Given the description of an element on the screen output the (x, y) to click on. 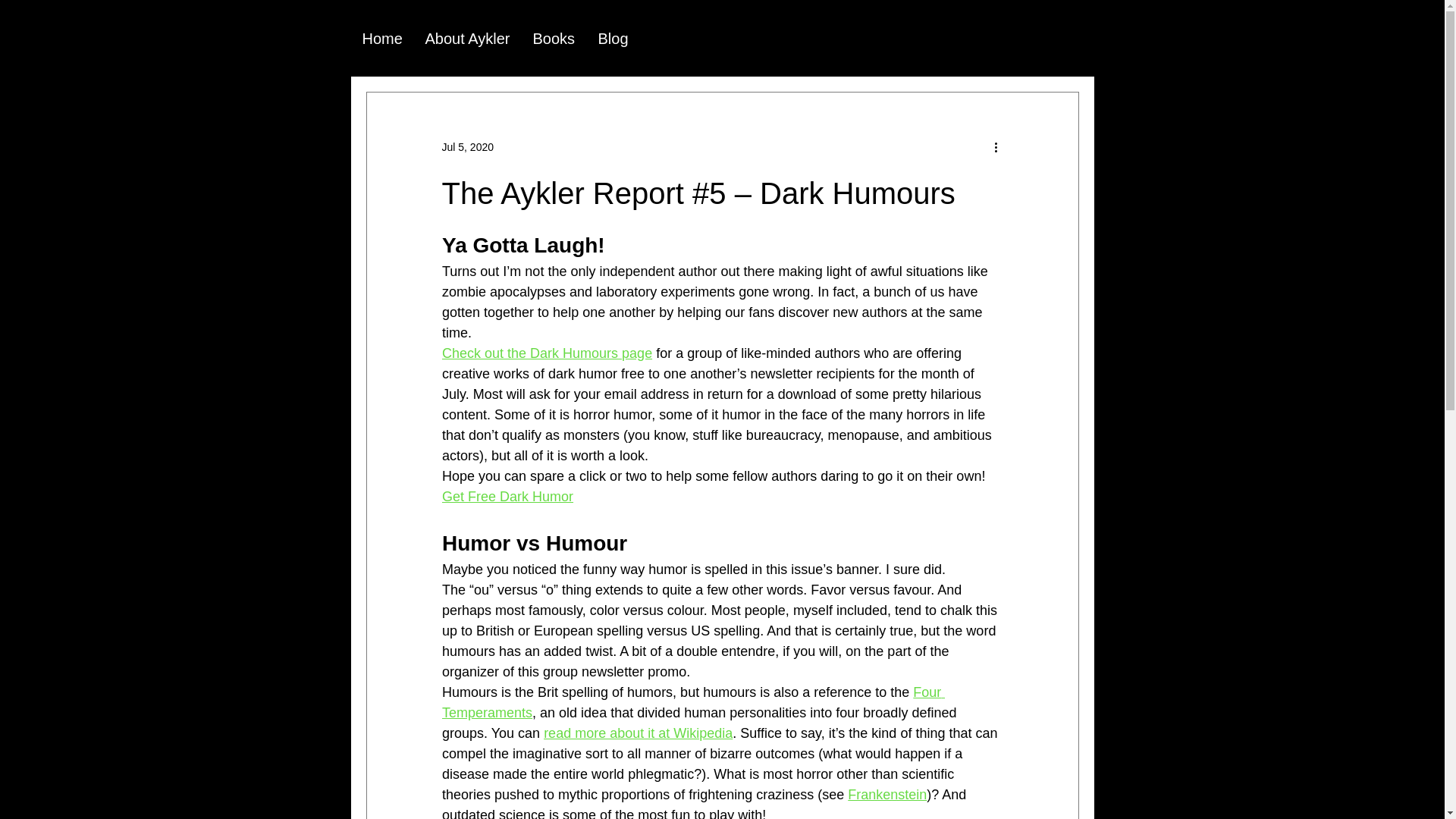
Blog (613, 36)
Check out the Dark Humours page (545, 353)
read more about it at Wikipedia (637, 733)
Home (381, 36)
About Aykler (467, 36)
Jul 5, 2020 (467, 146)
Frankenstein (886, 794)
Books (553, 36)
Four Temperaments (692, 702)
Get Free Dark Humor (506, 496)
